Given the description of an element on the screen output the (x, y) to click on. 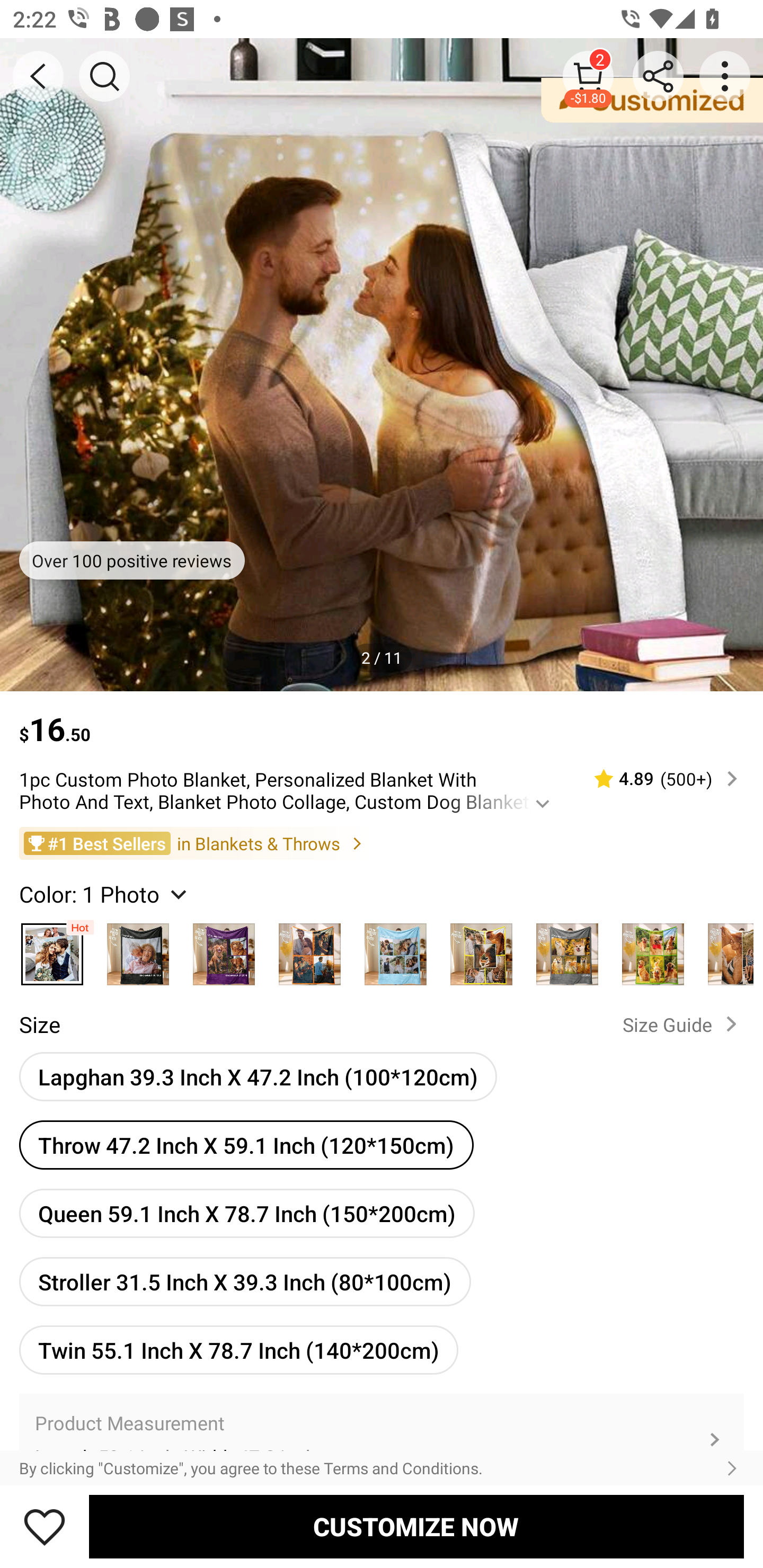
PHOTOS Over 100 positive reviews 2 / 11 (381, 364)
BACK (38, 75)
2 -$1.80 (588, 75)
2 / 11 (381, 656)
$16.50 (381, 720)
4.89 (500‎+) (658, 778)
#1 Best Sellers in Blankets & Throws (381, 842)
Color: 1 Photo (105, 893)
1 Photo (52, 949)
1 Photo + Text (138, 949)
3 Photos + Text (224, 949)
4 Photos (309, 949)
4 Photos + Text (395, 949)
5 Photos (481, 949)
5 Photos + Text (567, 949)
6 Photos (652, 949)
6 Photos - 2 (724, 949)
Size (39, 1024)
Size Guide (682, 1023)
CUSTOMIZE NOW (416, 1526)
Save (44, 1526)
